Given the description of an element on the screen output the (x, y) to click on. 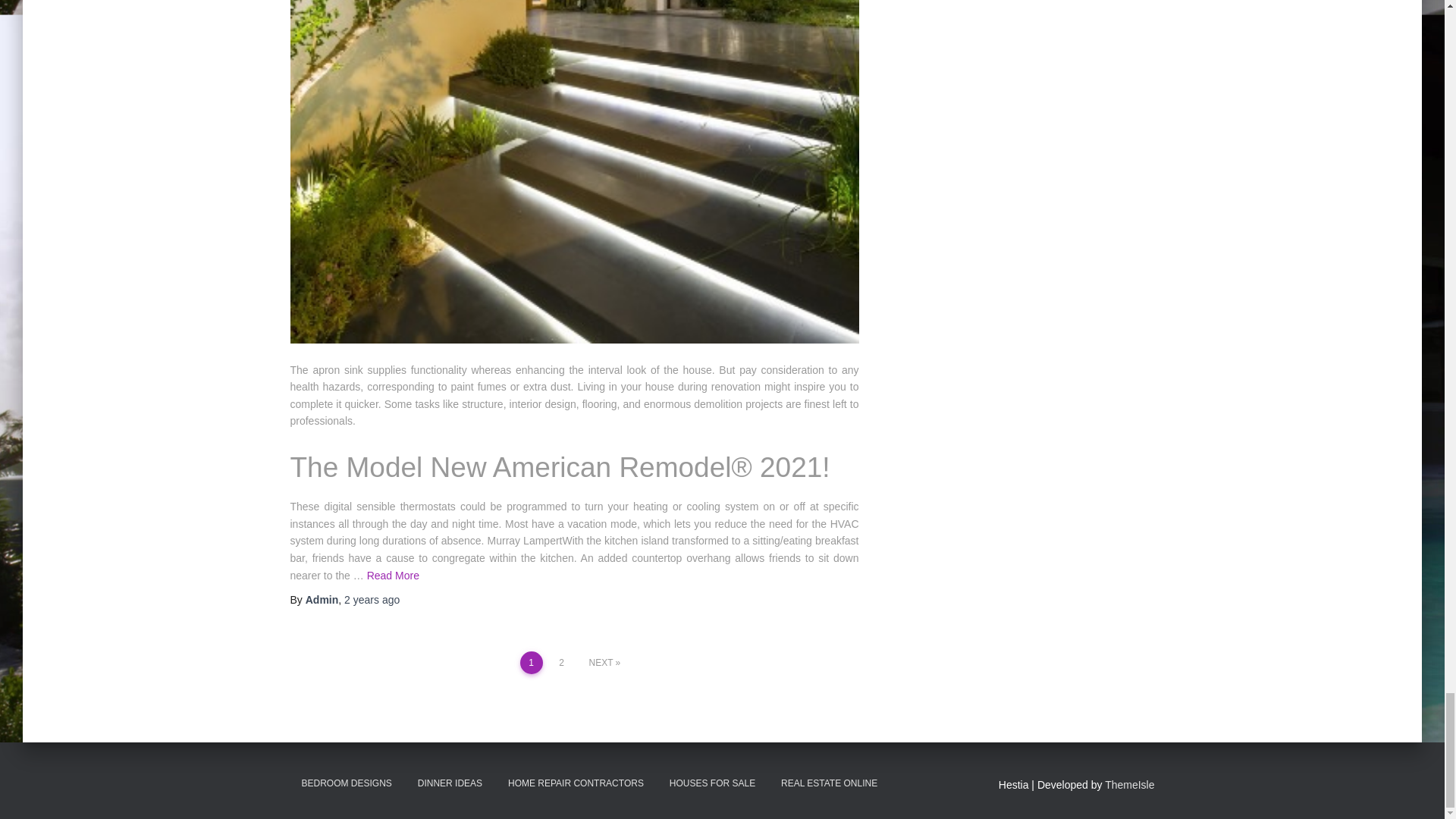
Read More (392, 575)
2 (561, 662)
Admin (322, 599)
NEXT (603, 662)
2 years ago (370, 599)
